Given the description of an element on the screen output the (x, y) to click on. 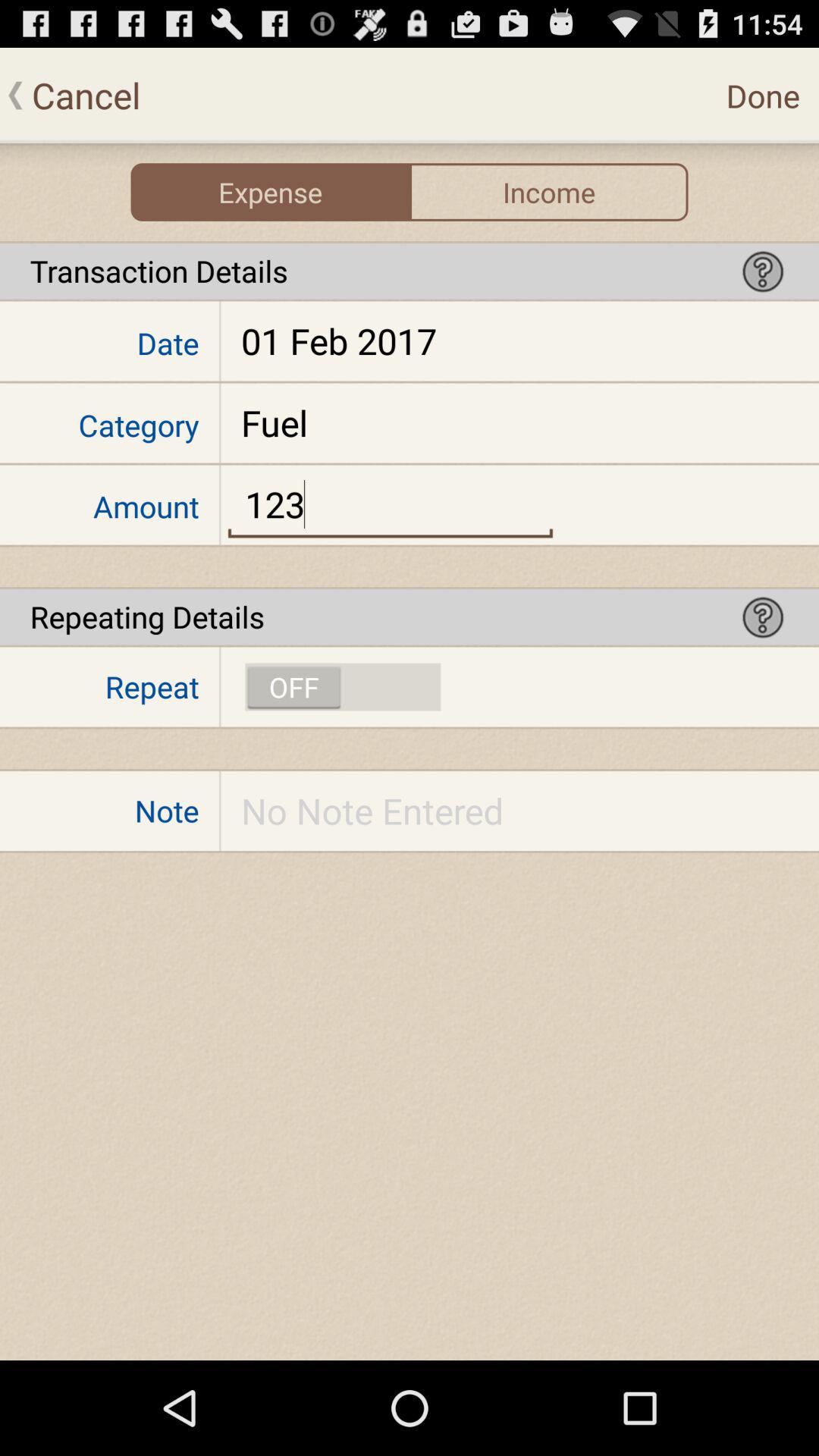
help option (762, 616)
